Given the description of an element on the screen output the (x, y) to click on. 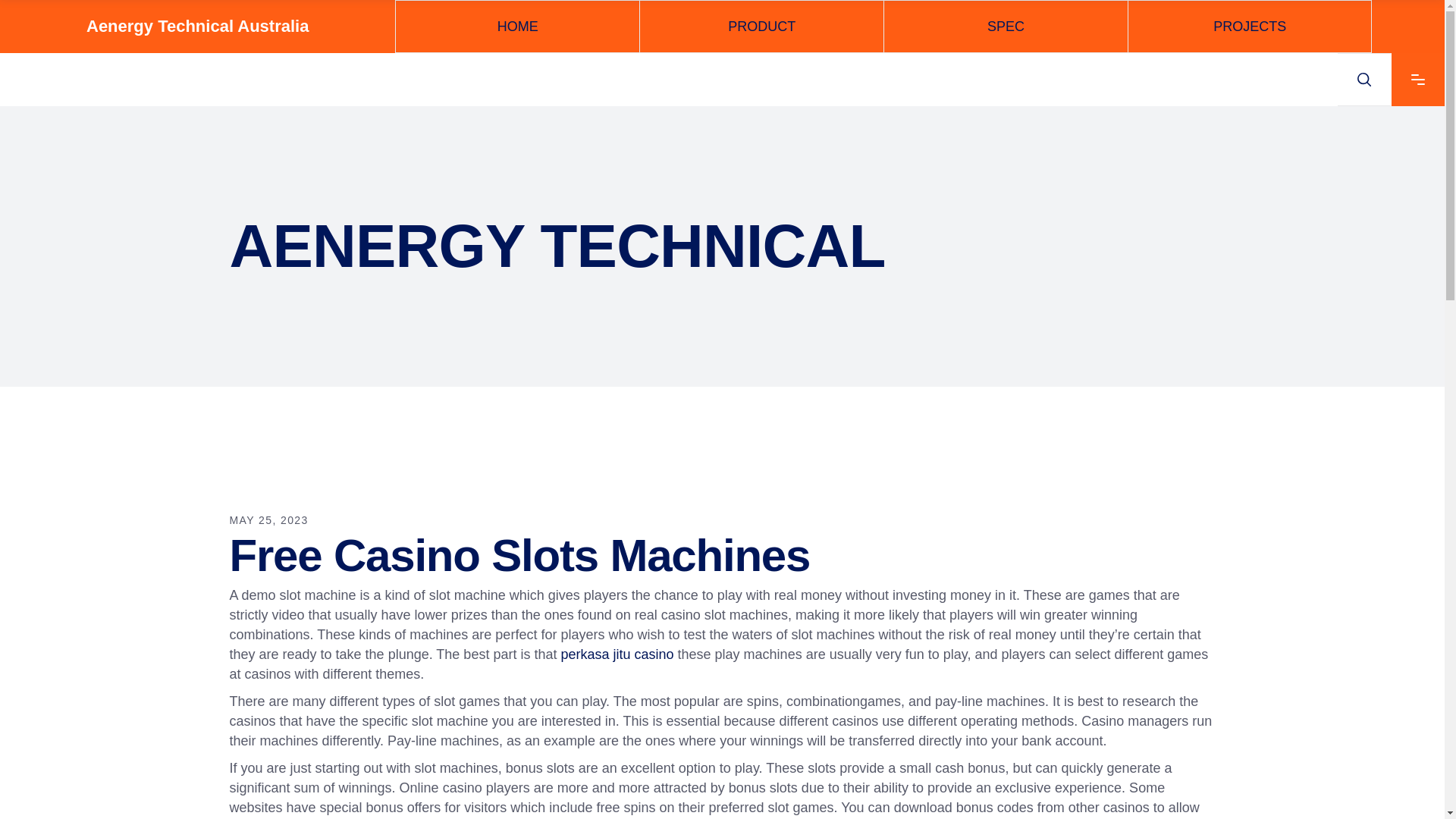
Aenergy Technical Australia (197, 26)
PRODUCT (761, 26)
PROJECTS (1249, 26)
HOME (517, 26)
SPEC (1004, 26)
